Given the description of an element on the screen output the (x, y) to click on. 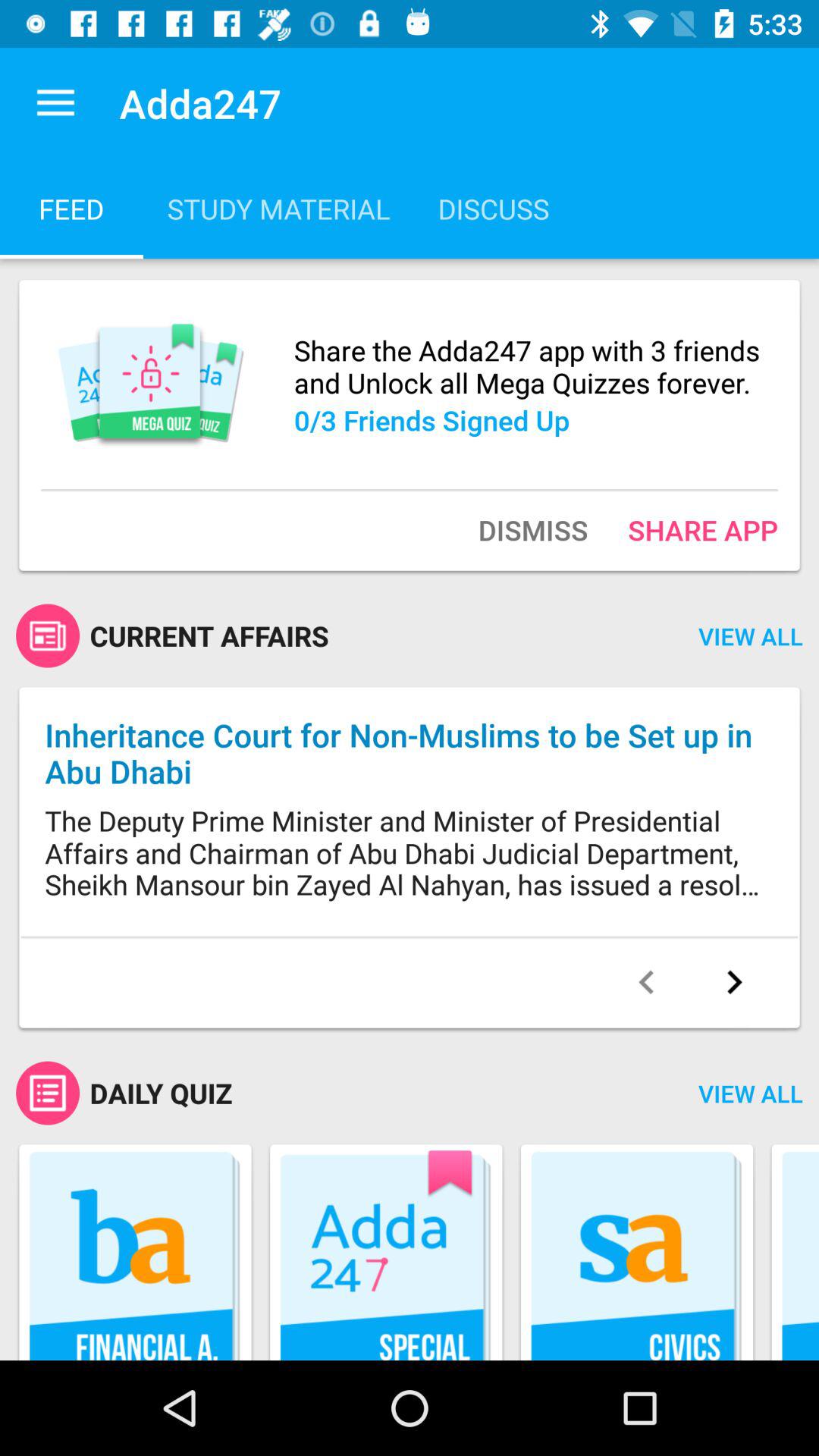
advance page (734, 982)
